Given the description of an element on the screen output the (x, y) to click on. 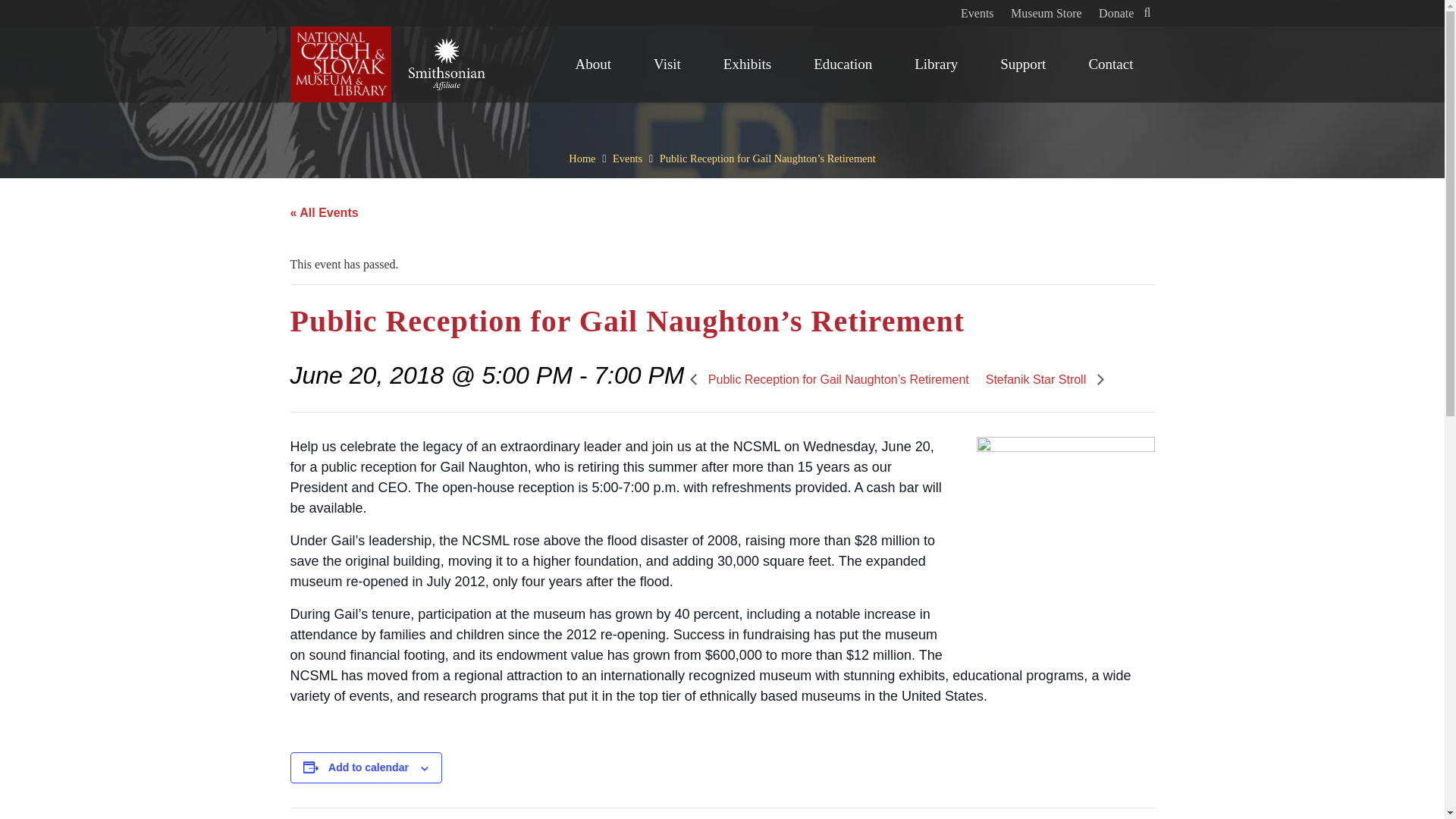
Visit (666, 64)
Museum Store (1045, 11)
Education (842, 64)
About (593, 64)
Library (935, 64)
Events (977, 11)
Exhibits (746, 64)
Donate (1116, 11)
